Given the description of an element on the screen output the (x, y) to click on. 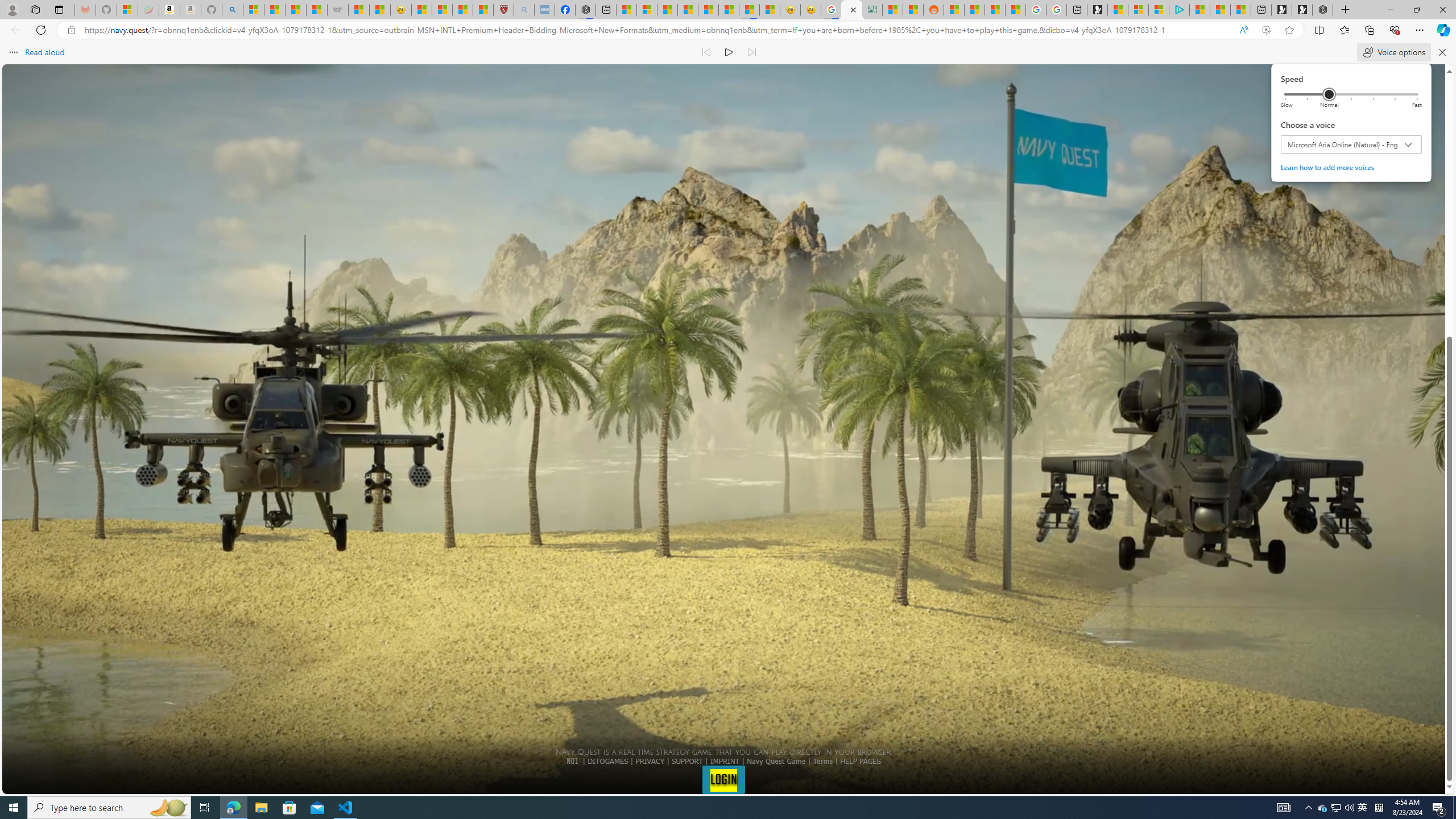
Play Free Online Games | Games from Microsoft Start (1302, 9)
IMPRINT (724, 760)
12 Popular Science Lies that Must be Corrected (482, 9)
Visual Studio Code - 1 running window (345, 807)
DITOGAMES AG Imprint (871, 9)
Stocks - MSN (316, 9)
Microsoft-Report a Concern to Bing (127, 9)
PRIVACY (649, 760)
